Given the description of an element on the screen output the (x, y) to click on. 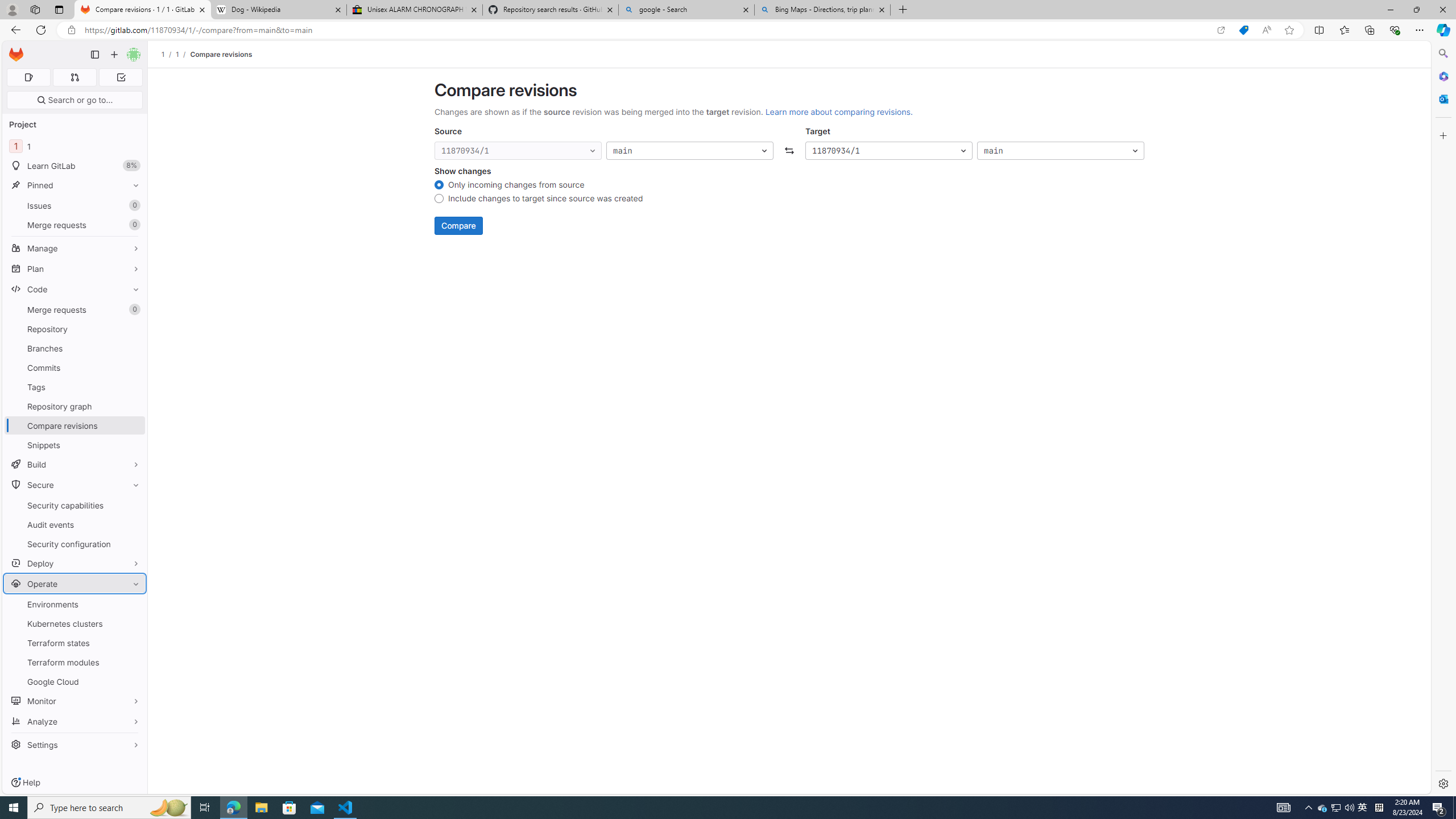
Terraform modules (74, 661)
Pin Google Cloud (132, 681)
Code (74, 289)
Issues0 (74, 205)
Merge requests 0 (74, 309)
Google Cloud (74, 681)
Security configuration (74, 543)
Kubernetes clusters (74, 623)
Pin Compare revisions (132, 425)
Merge requests 0 (74, 76)
Commits (74, 367)
